Given the description of an element on the screen output the (x, y) to click on. 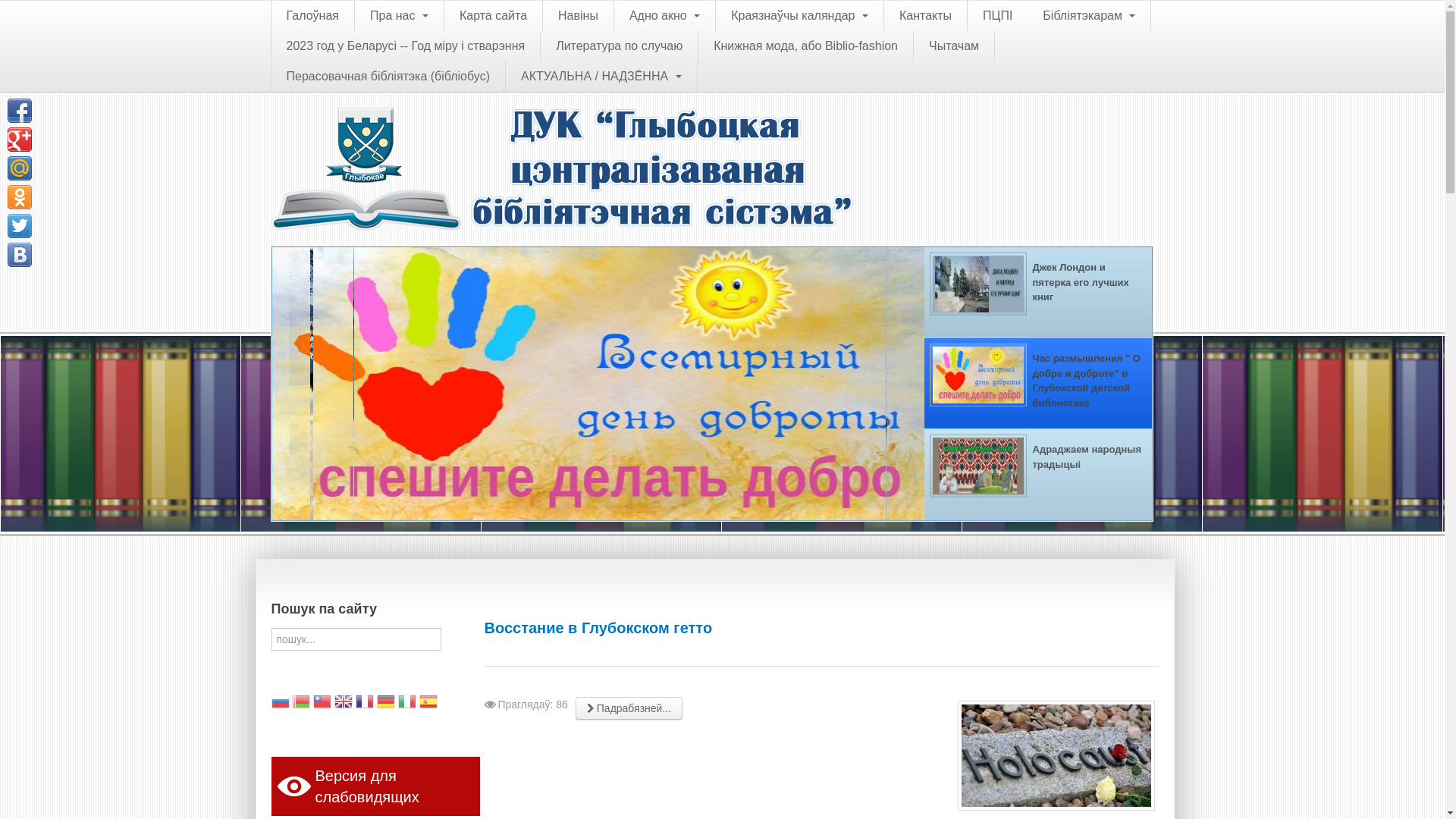
Chinese (Traditional) Element type: hover (322, 703)
Russian Element type: hover (280, 703)
Spanish Element type: hover (428, 703)
Italian Element type: hover (407, 703)
German Element type: hover (385, 703)
English Element type: hover (343, 703)
Belarusian Element type: hover (300, 703)
French Element type: hover (364, 703)
